Given the description of an element on the screen output the (x, y) to click on. 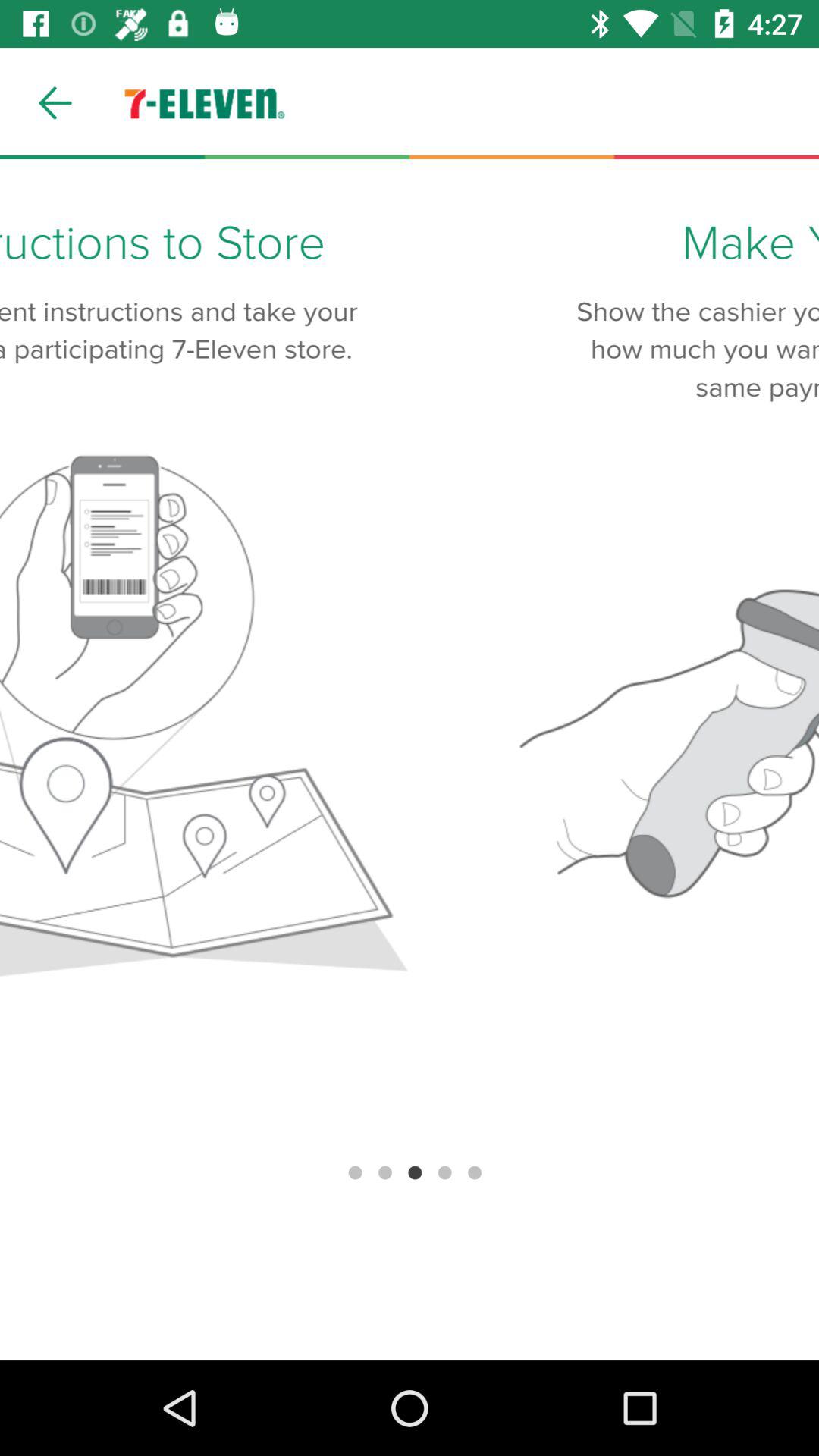
7-elevein page (409, 759)
